Given the description of an element on the screen output the (x, y) to click on. 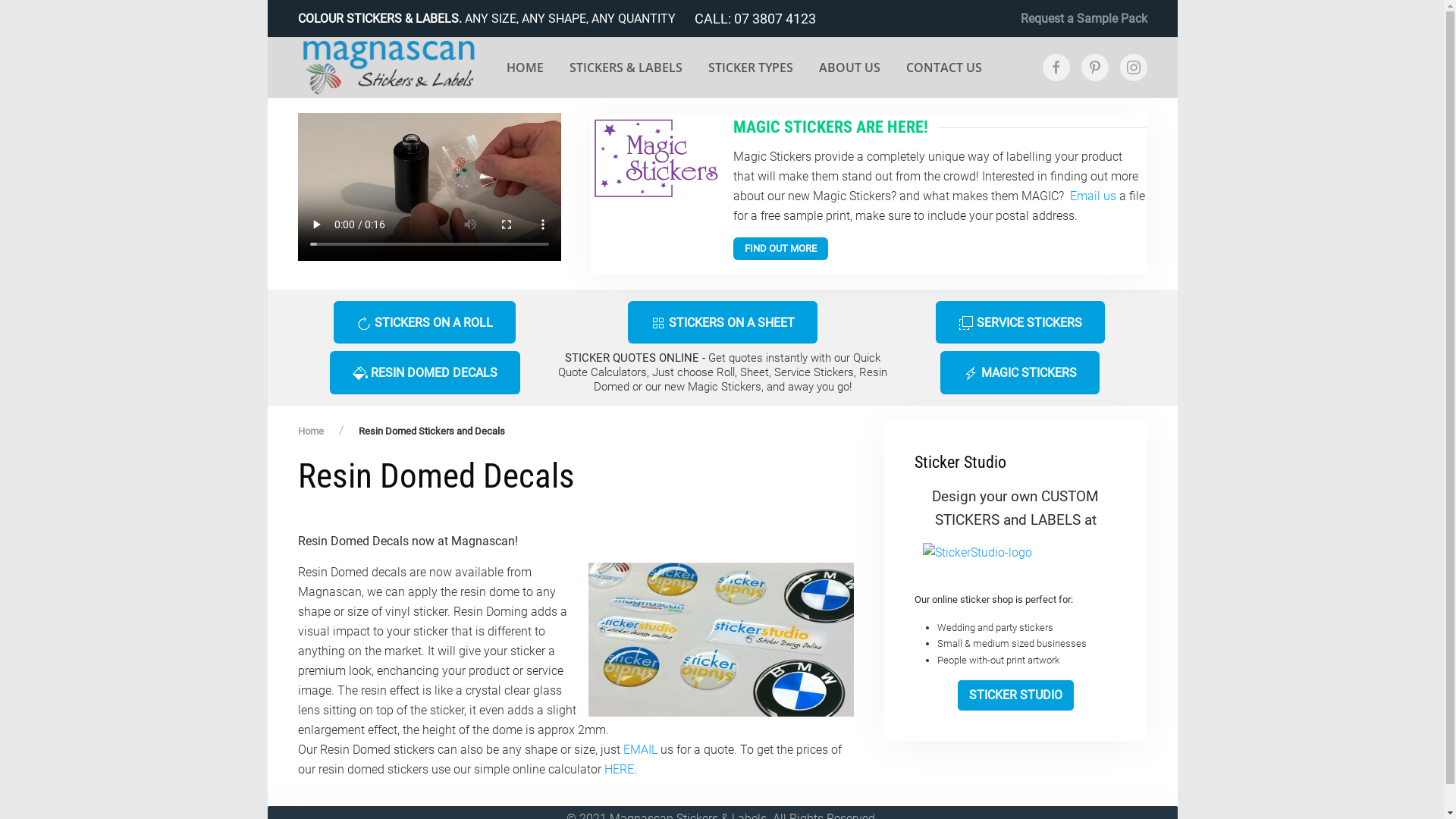
HERE Element type: text (618, 769)
ABOUT US Element type: text (849, 67)
MAGIC STICKERS Element type: text (1019, 372)
FIND OUT MORE Element type: text (780, 248)
STICKERS ON A SHEET Element type: text (722, 322)
STICKER STUDIO Element type: text (1015, 695)
Request a Sample Pack Element type: text (1083, 18)
Home Element type: text (310, 431)
CONTACT US Element type: text (943, 67)
HOME Element type: text (524, 67)
Email us Element type: text (1093, 195)
RESIN DOMED DECALS Element type: text (424, 372)
STICKERS & LABELS Element type: text (625, 67)
STICKERS ON A ROLL Element type: text (424, 322)
EMAIL Element type: text (640, 749)
SERVICE STICKERS Element type: text (1019, 322)
STICKER TYPES Element type: text (750, 67)
